Given the description of an element on the screen output the (x, y) to click on. 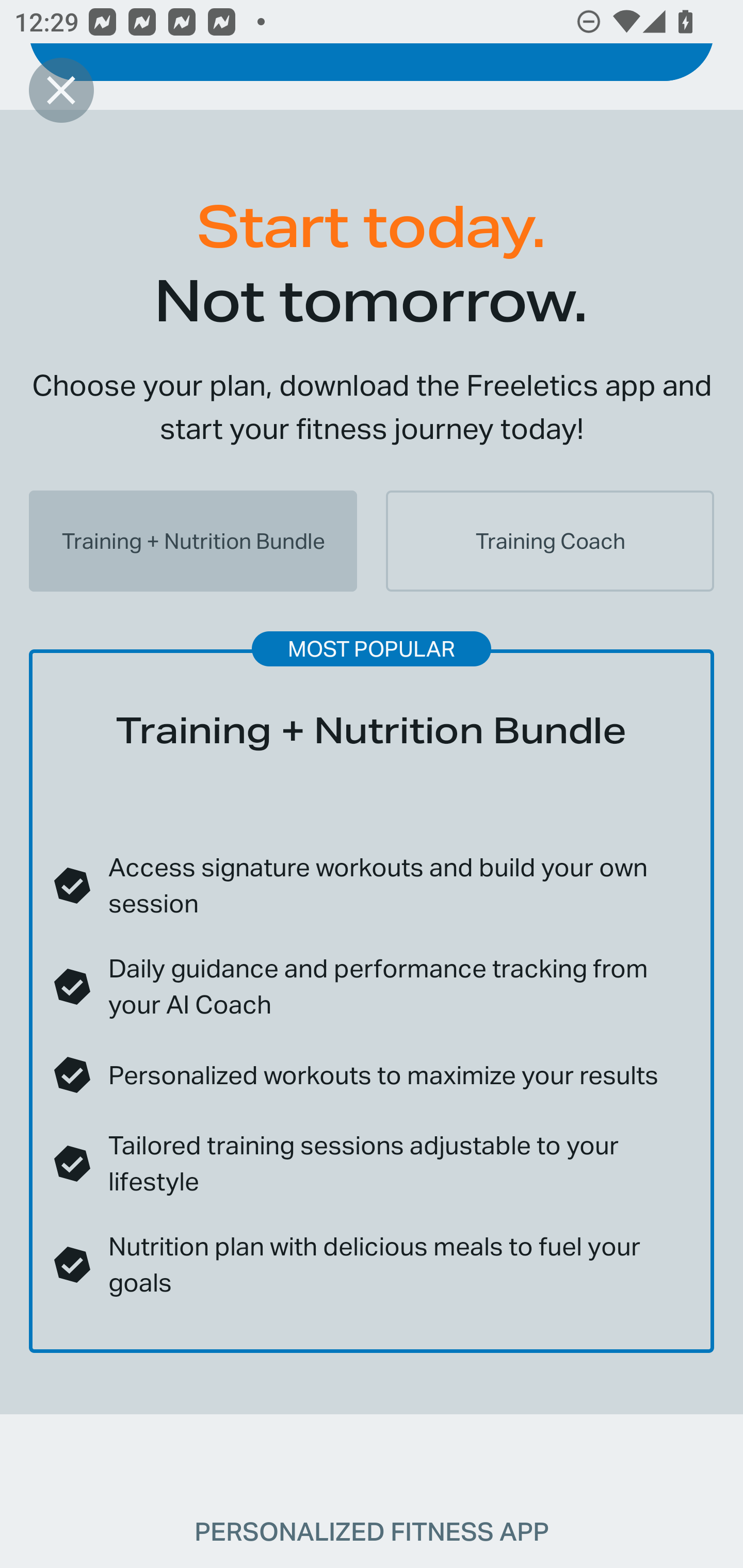
Close (60, 90)
Training + Nutrition Bundle (192, 540)
Training Coach (549, 540)
